Given the description of an element on the screen output the (x, y) to click on. 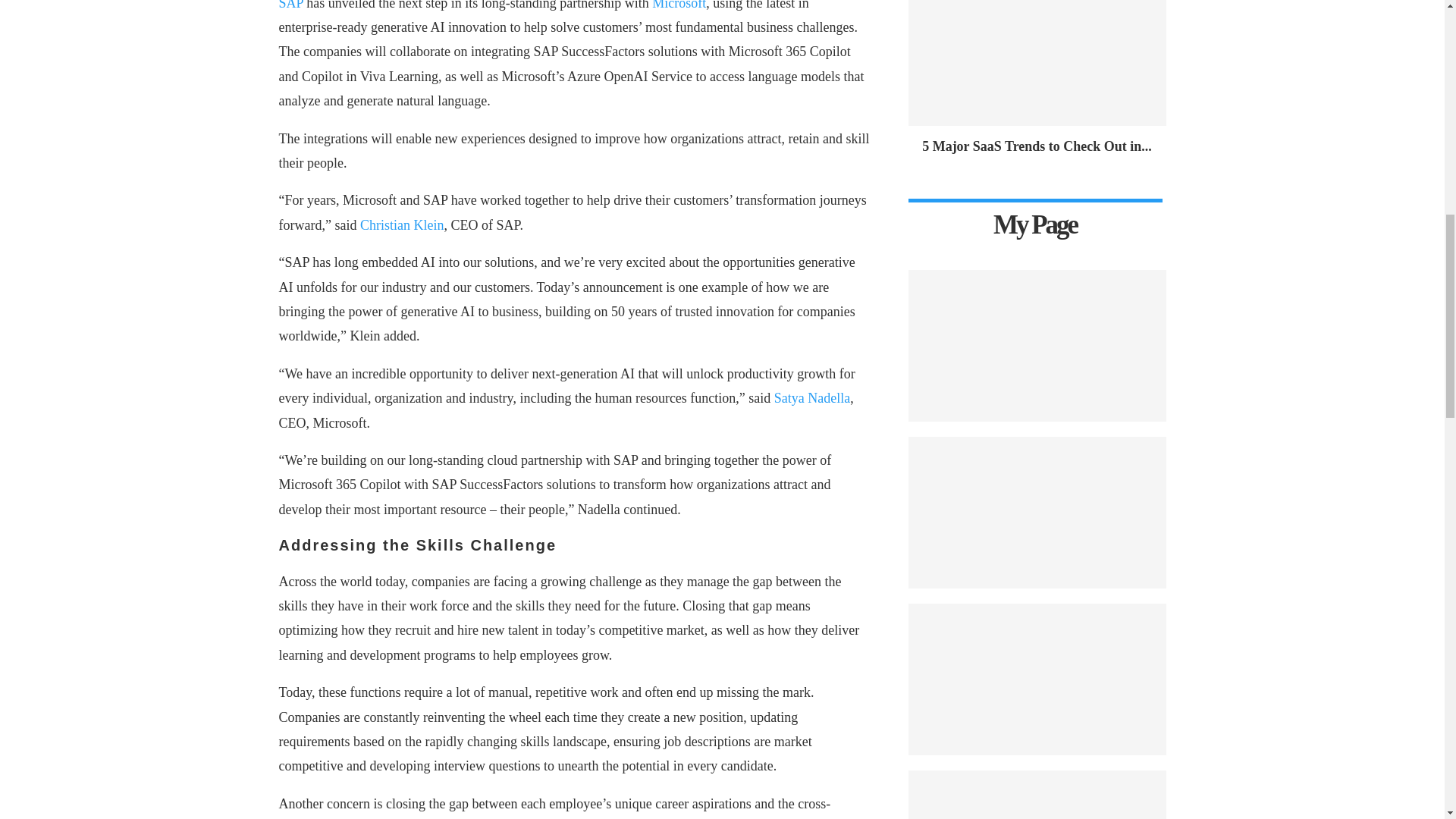
5 Major SaaS Trends to Check Out in 2021 (1037, 63)
5 Major SaaS Trends to Check Out in 2021 (1036, 145)
